Given the description of an element on the screen output the (x, y) to click on. 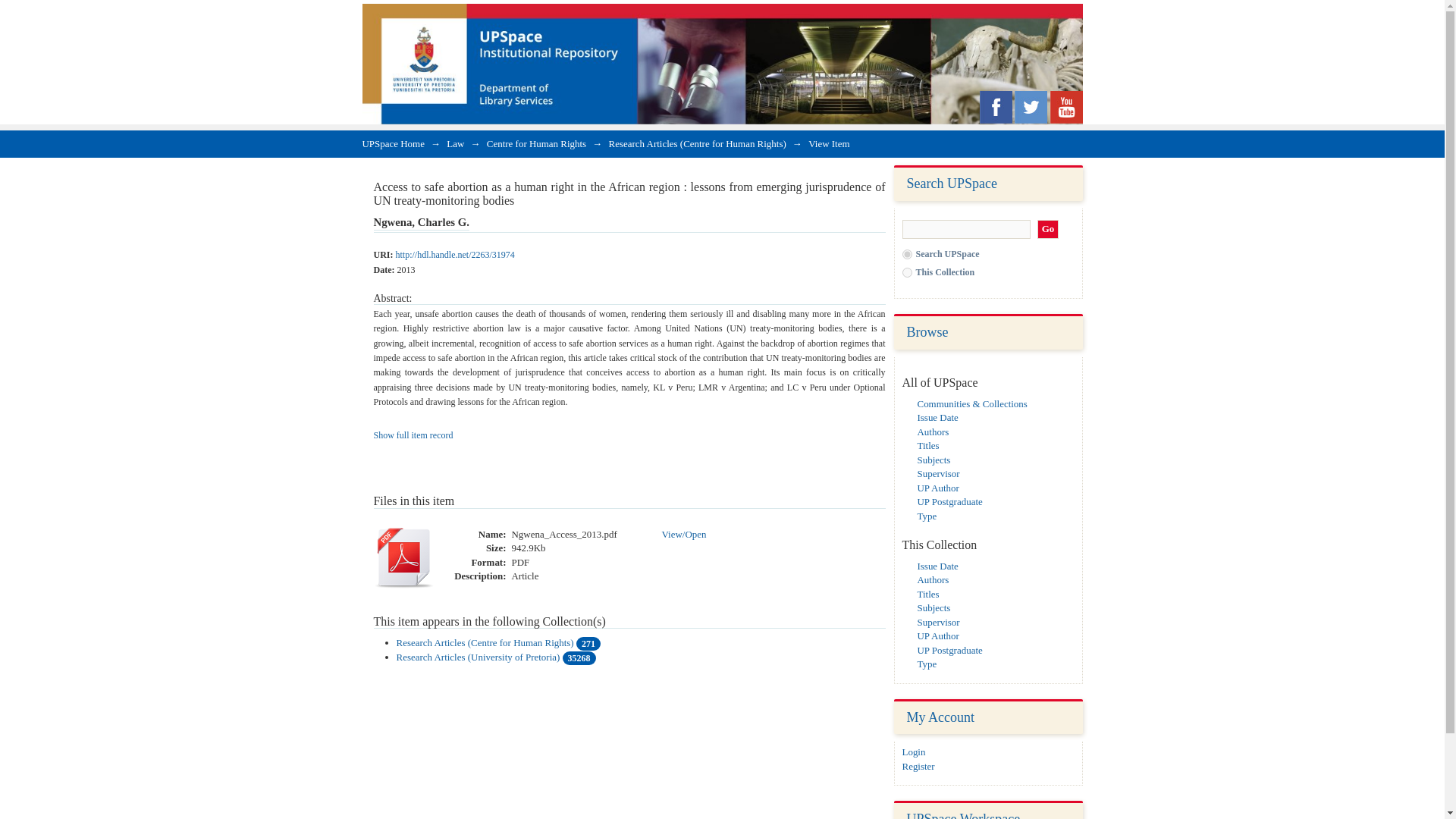
UP Author (938, 487)
Subjects (933, 459)
Show full item record (412, 434)
Issue Date (937, 565)
UPSpace Workspace (963, 815)
Centre for Human Rights (536, 143)
Authors (933, 579)
Supervisor (938, 473)
UP Postgraduate (949, 501)
Law (455, 143)
Go (1047, 229)
Subjects (933, 607)
Article (524, 576)
Register (918, 766)
UP Author (938, 635)
